Given the description of an element on the screen output the (x, y) to click on. 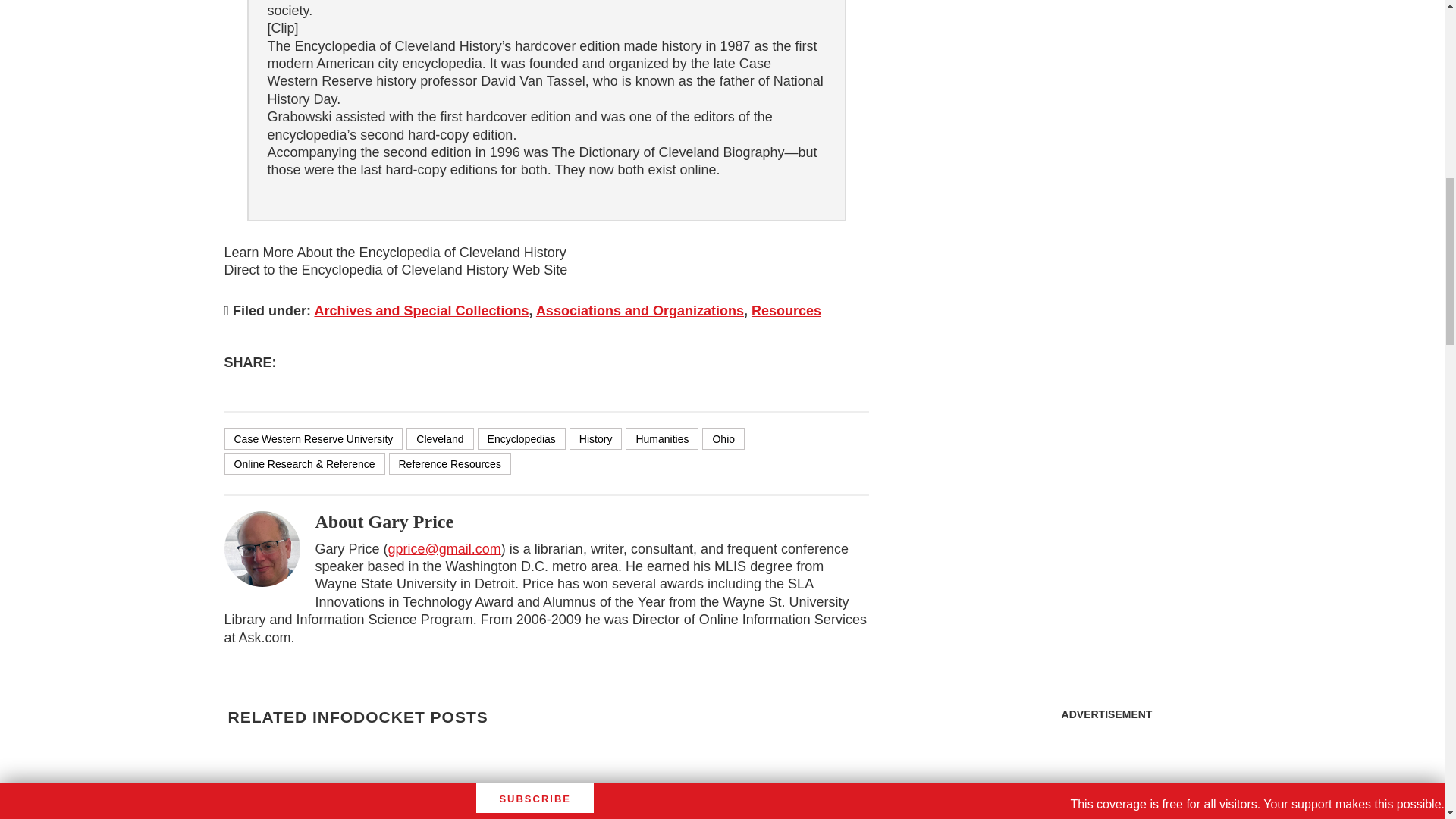
3rd party ad content (1106, 91)
3rd party ad content (1106, 773)
